Given the description of an element on the screen output the (x, y) to click on. 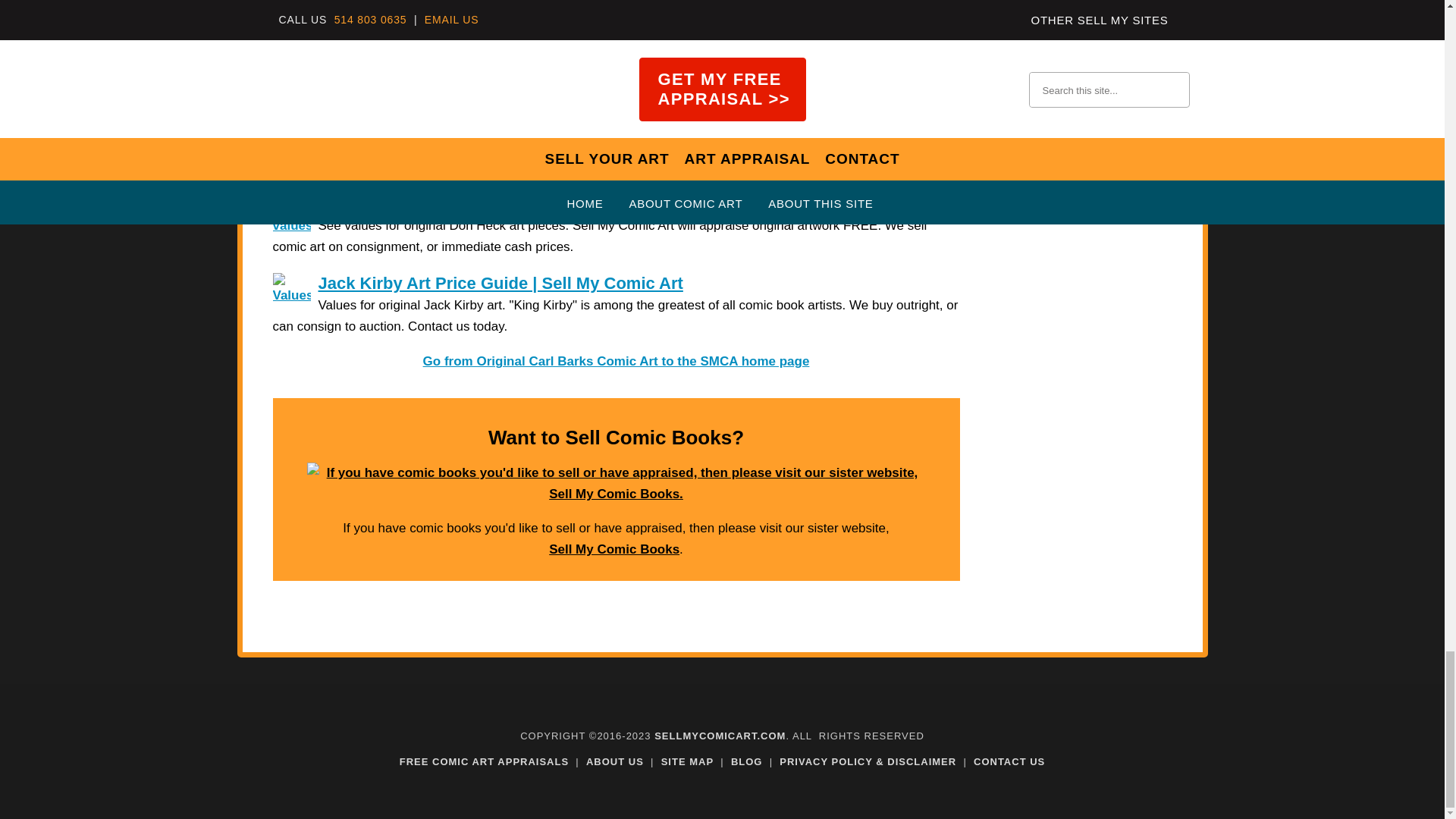
Click to Get a Free Appraisal of Original Comic Book Art! (615, 28)
Frank Miller Comic Art Values (435, 124)
